Given the description of an element on the screen output the (x, y) to click on. 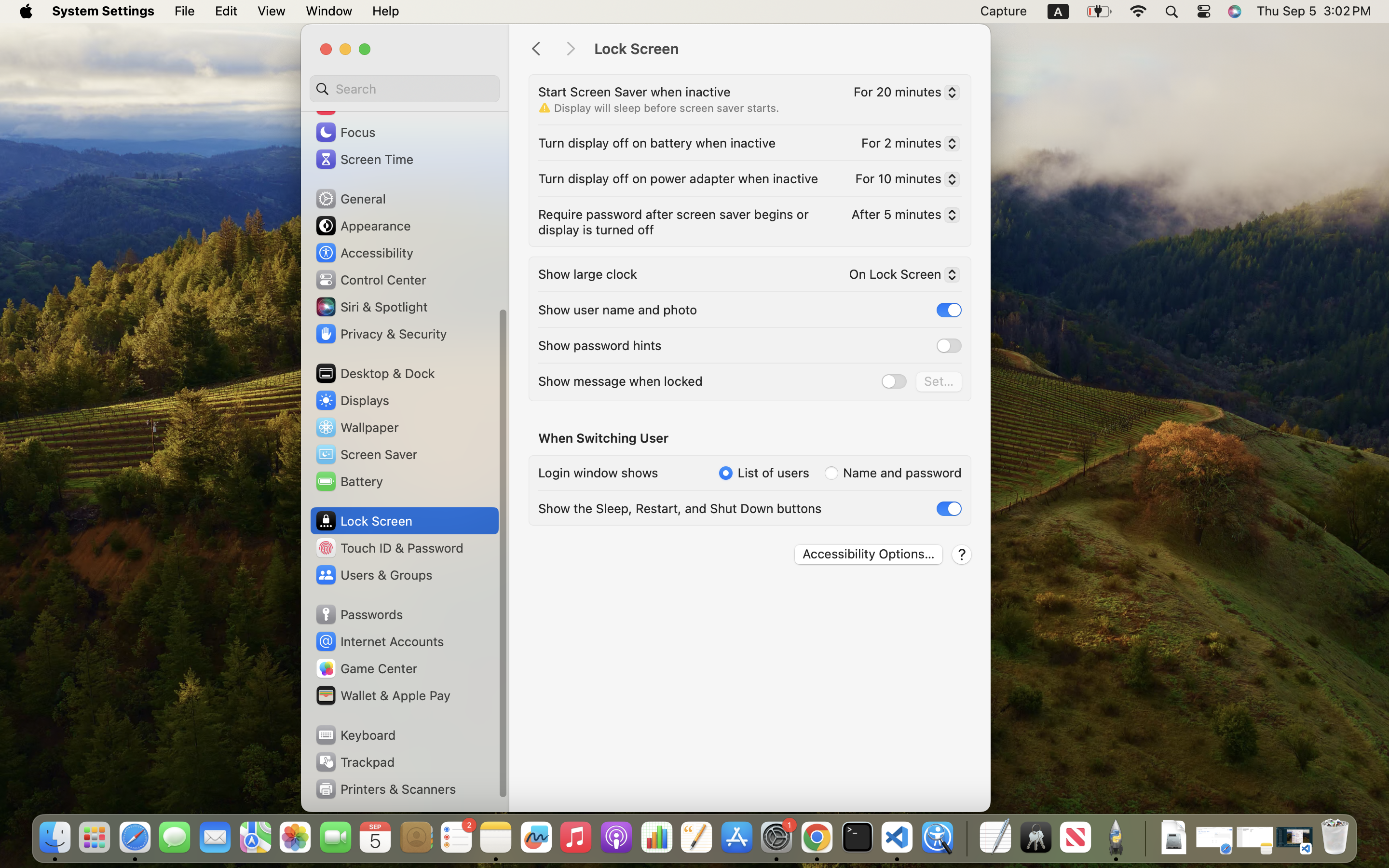
0.4285714328289032 Element type: AXDockItem (965, 837)
Appearance Element type: AXStaticText (362, 225)
Displays Element type: AXStaticText (351, 399)
Focus Element type: AXStaticText (344, 131)
General Element type: AXStaticText (349, 198)
